Given the description of an element on the screen output the (x, y) to click on. 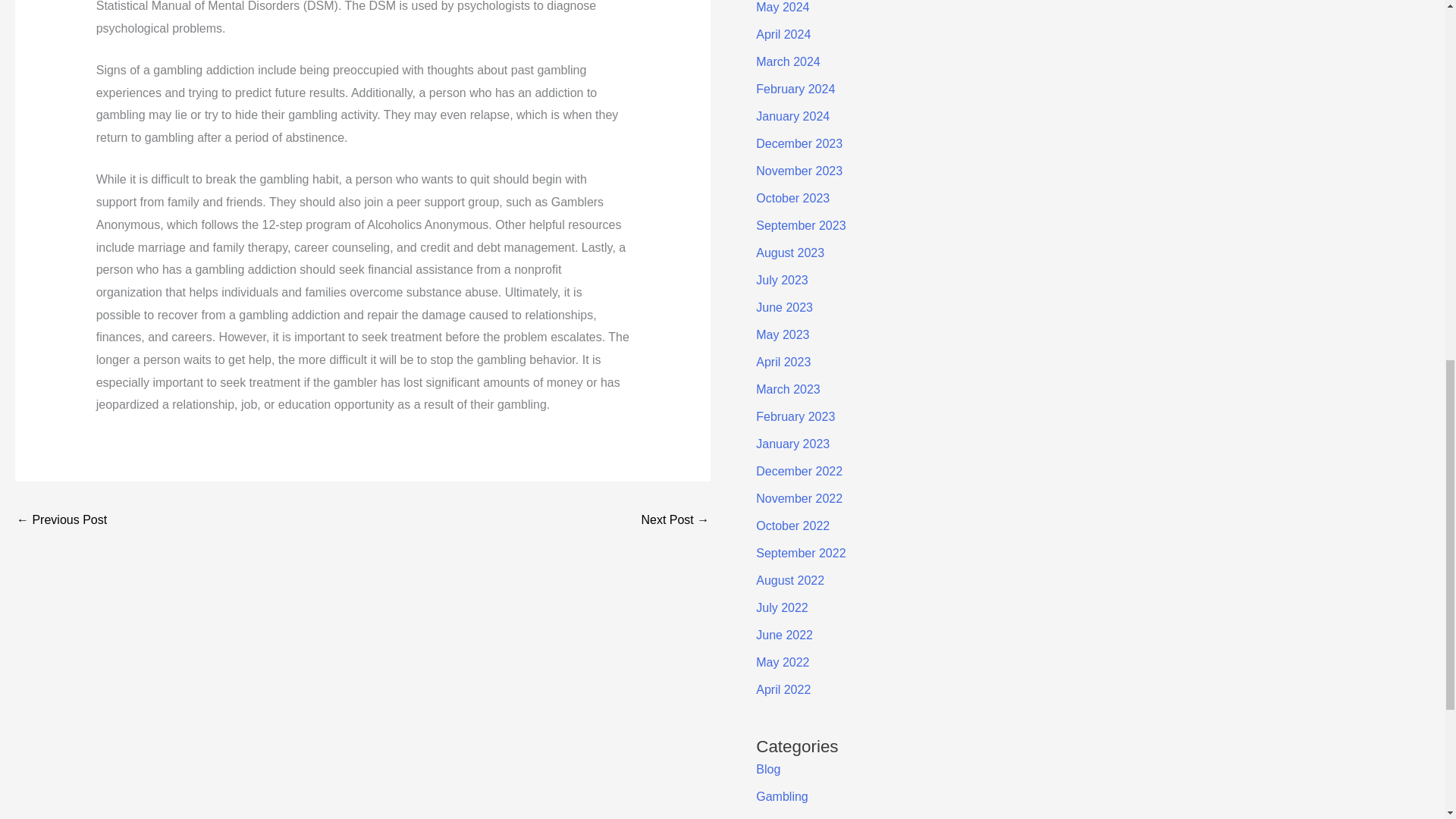
September 2023 (800, 225)
February 2023 (794, 416)
January 2023 (792, 443)
November 2022 (799, 498)
August 2023 (789, 252)
December 2022 (799, 471)
May 2024 (782, 6)
January 2024 (792, 115)
The Basics of Poker (674, 520)
June 2023 (783, 307)
